Given the description of an element on the screen output the (x, y) to click on. 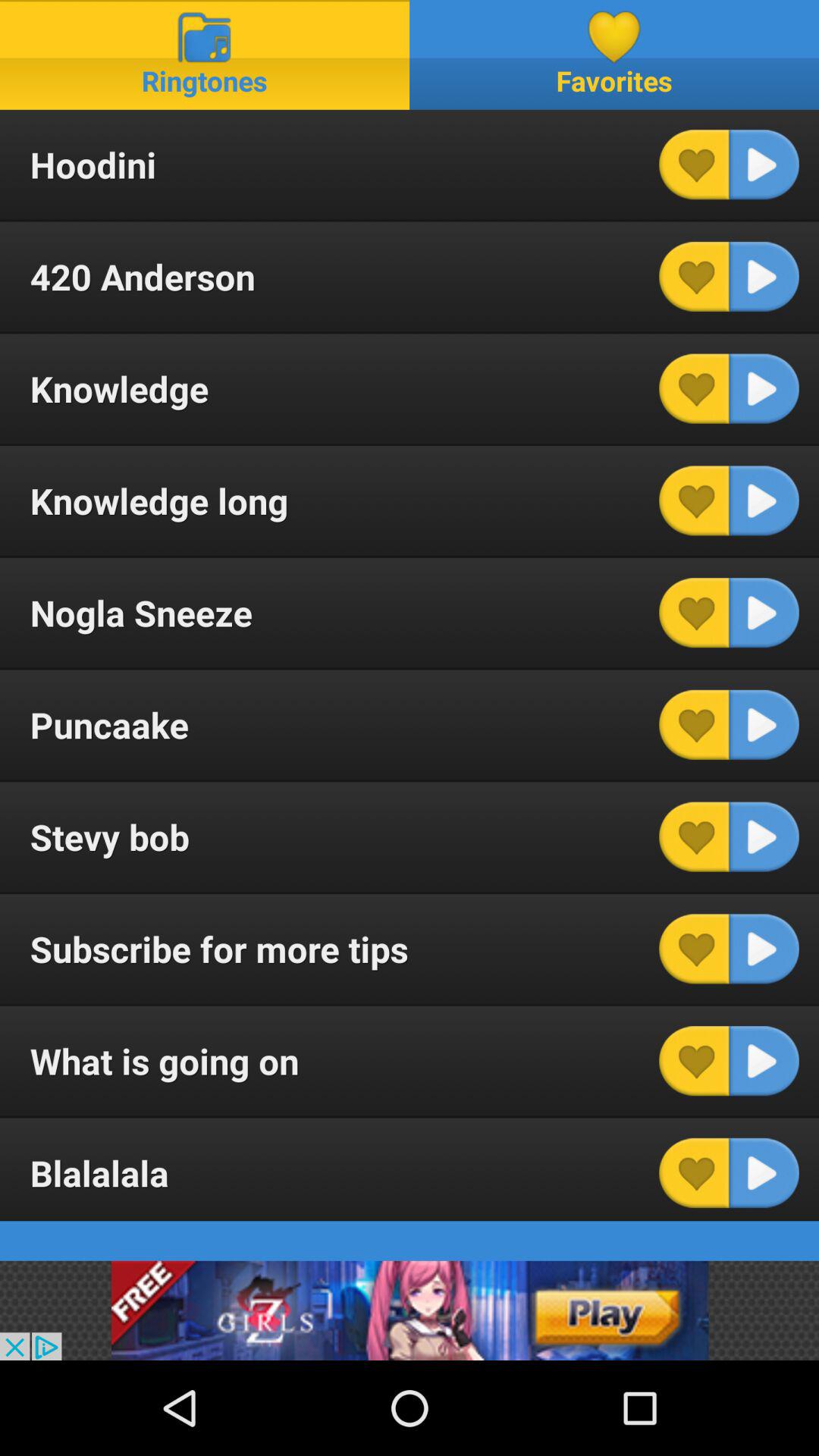
favorite button (694, 724)
